Given the description of an element on the screen output the (x, y) to click on. 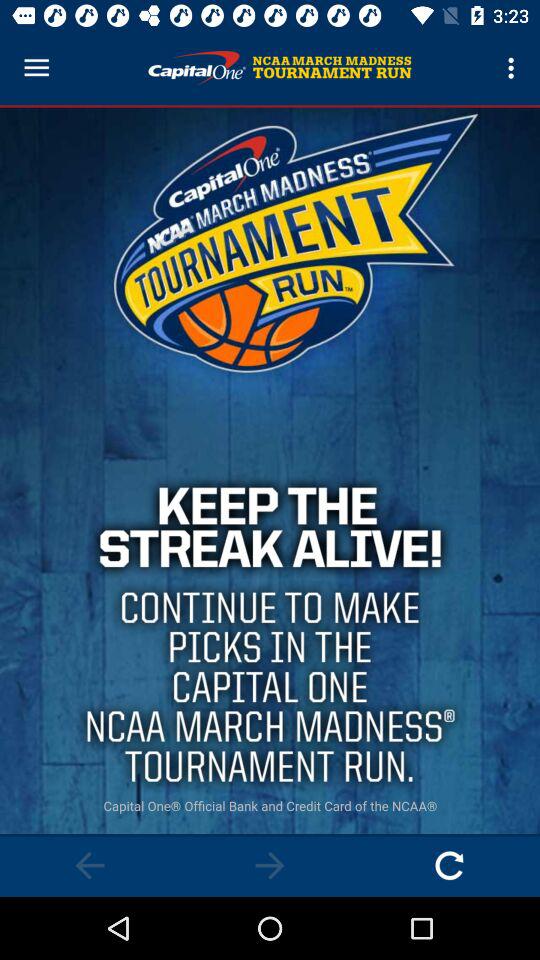
refresh page (449, 865)
